Given the description of an element on the screen output the (x, y) to click on. 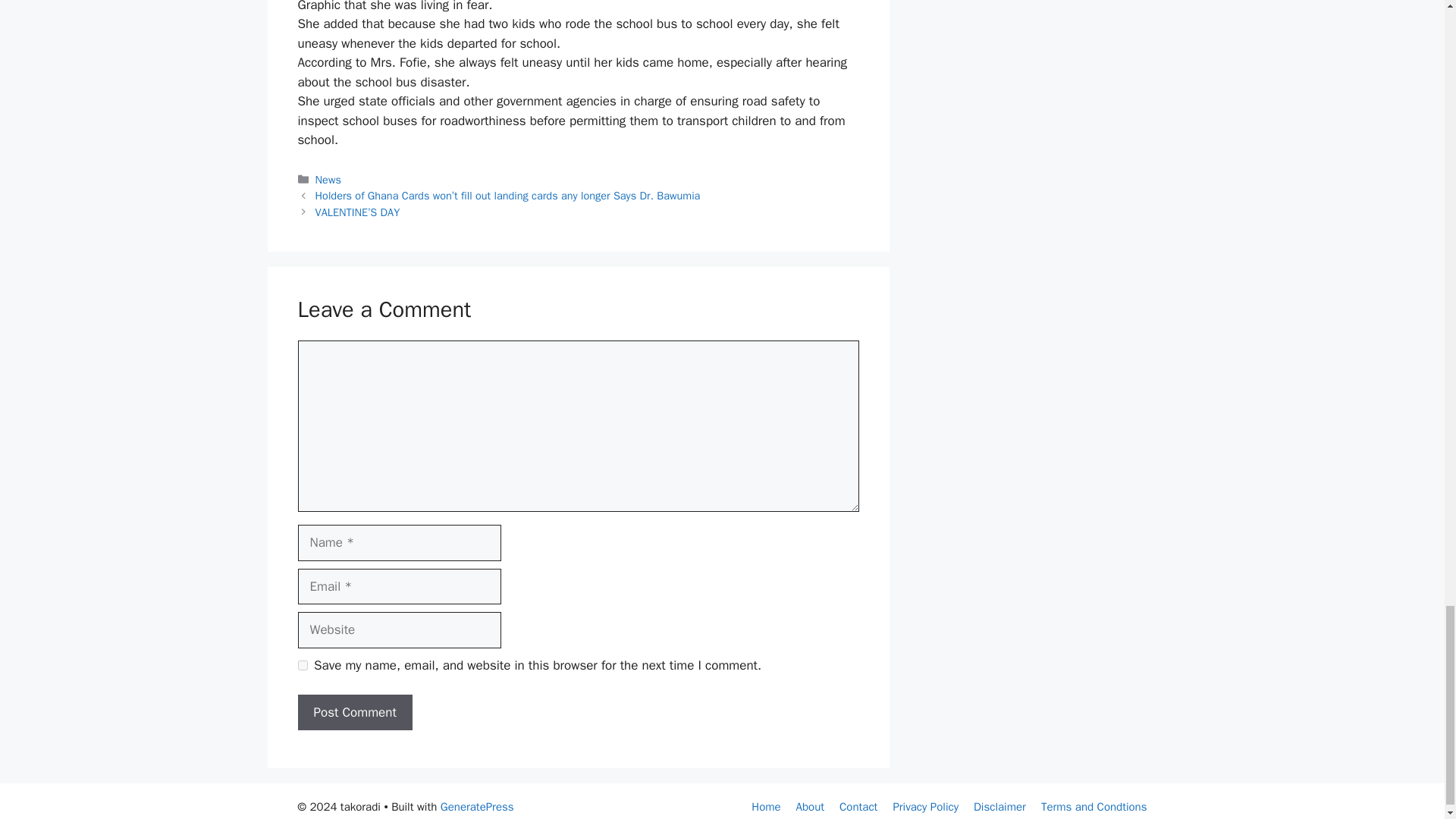
About (810, 807)
News (327, 179)
yes (302, 665)
Home (765, 807)
Privacy Policy (925, 807)
Contact (858, 807)
Terms and Condtions (1094, 807)
GeneratePress (477, 807)
Post Comment (354, 712)
Post Comment (354, 712)
Disclaimer (1000, 807)
